Given the description of an element on the screen output the (x, y) to click on. 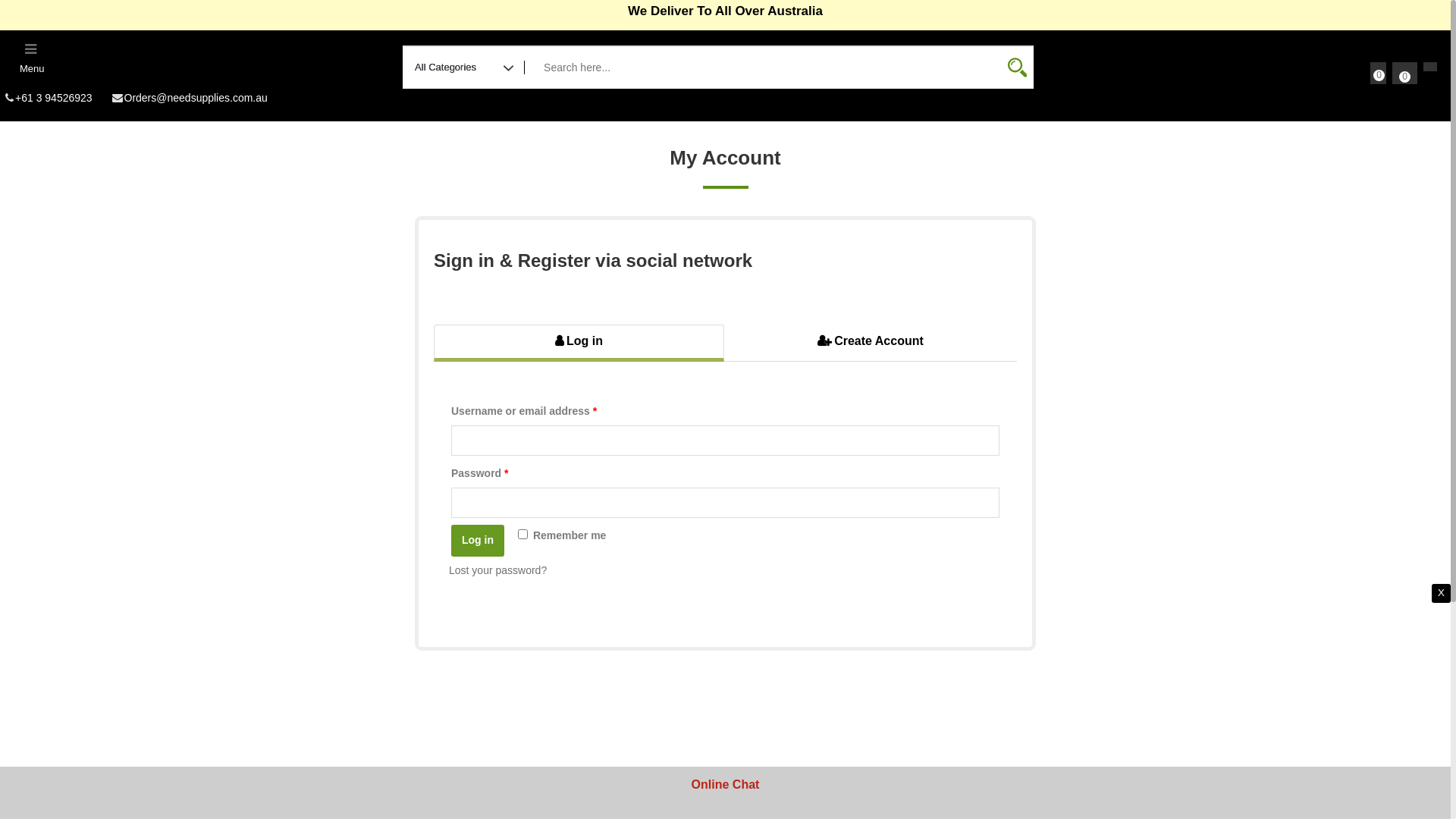
Online Chat Element type: text (725, 784)
X Element type: text (1440, 592)
Create Account Element type: text (869, 341)
0 Element type: text (1378, 71)
Orders@needsupplies.com.au Element type: text (186, 97)
Menu Element type: text (31, 58)
Lost your password? Element type: text (497, 570)
+61 3 94526923 Element type: text (46, 97)
Log in Element type: text (477, 540)
Log in Element type: text (578, 342)
